Given the description of an element on the screen output the (x, y) to click on. 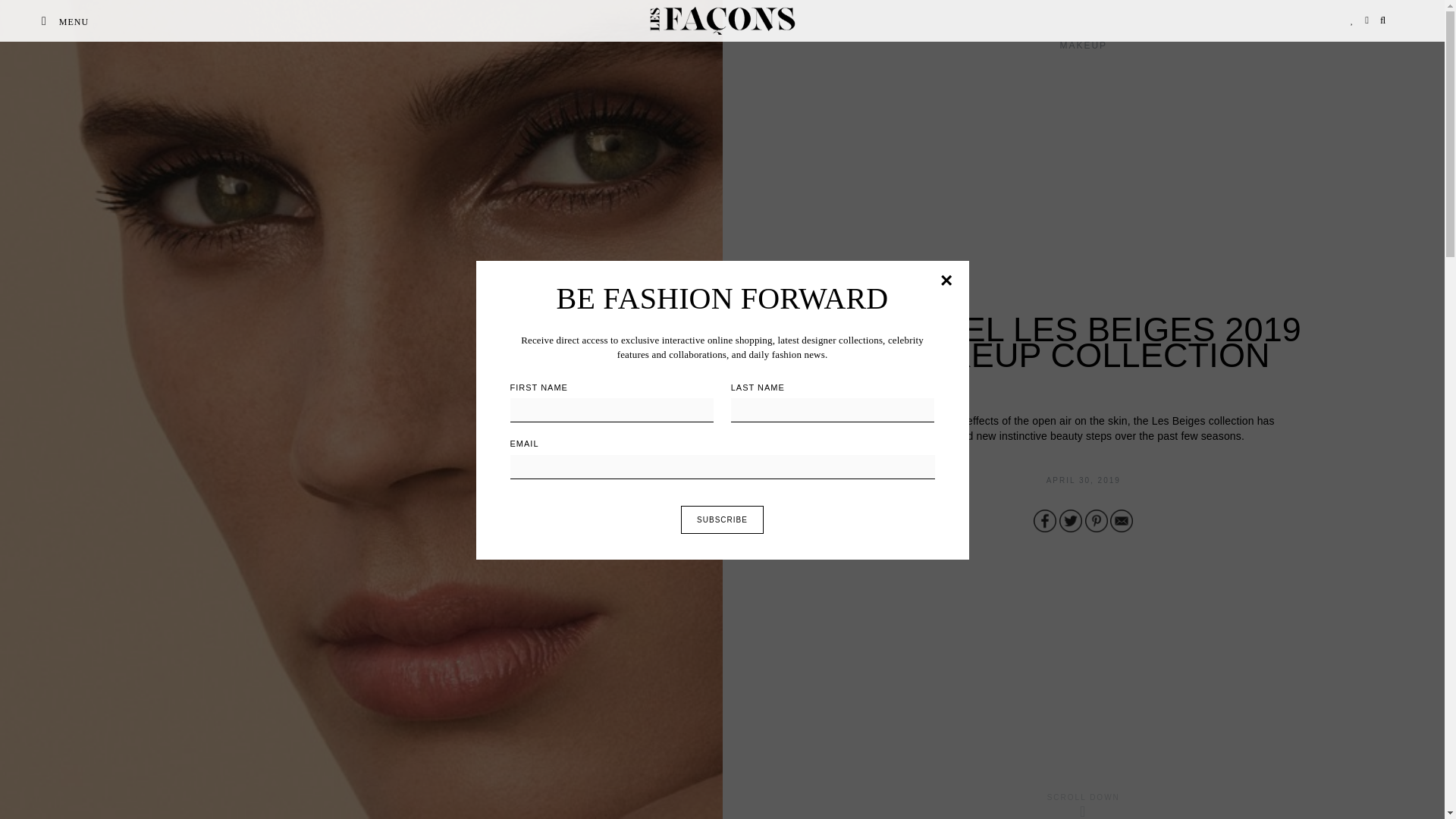
Share on Twitter (1070, 520)
Share on Pinterest (1096, 520)
SUBSCRIBE (721, 519)
Share on Facebook (1045, 520)
